Given the description of an element on the screen output the (x, y) to click on. 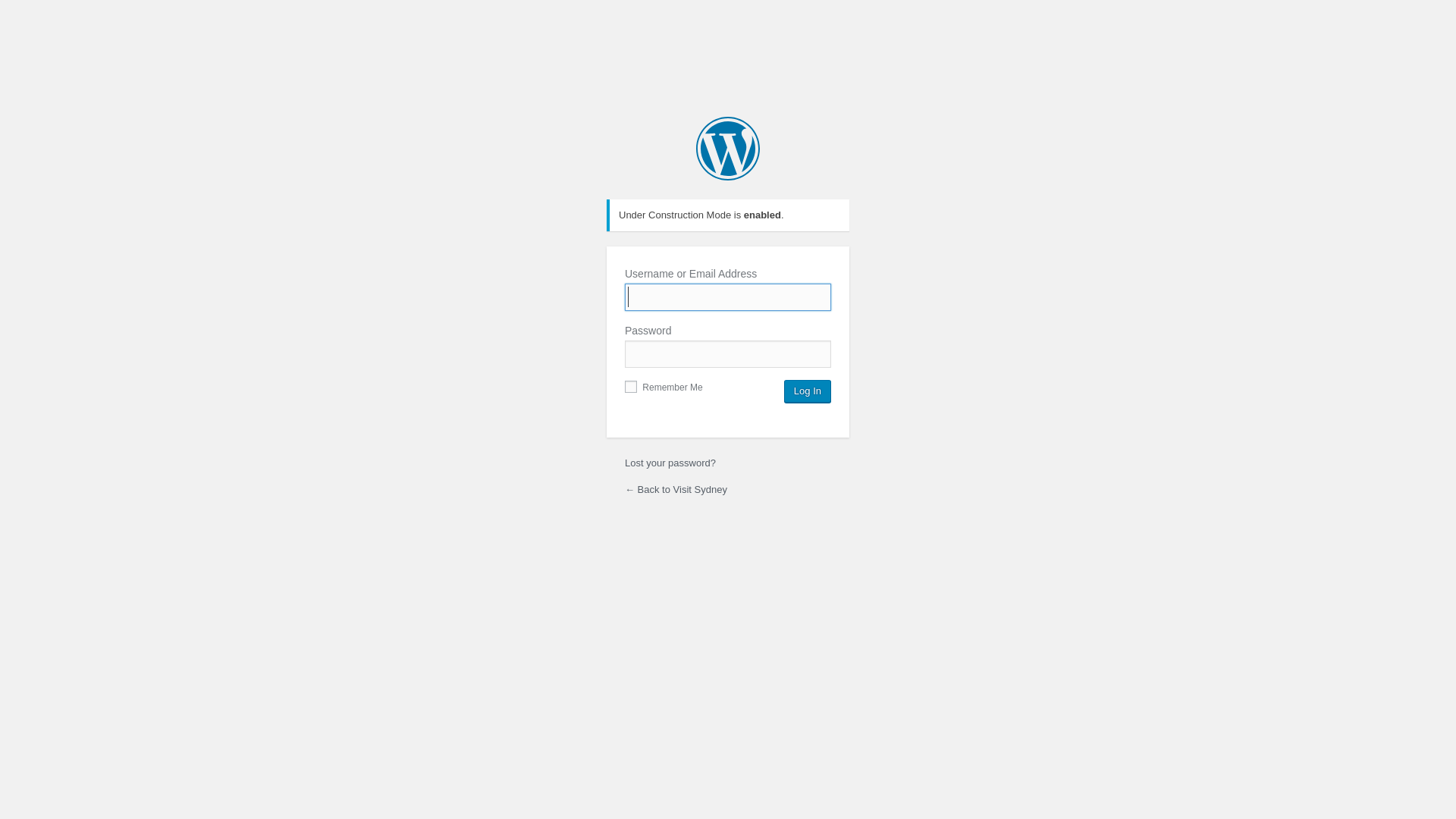
Powered by WordPress Element type: text (727, 148)
Lost your password? Element type: text (669, 462)
Log In Element type: text (807, 390)
